Given the description of an element on the screen output the (x, y) to click on. 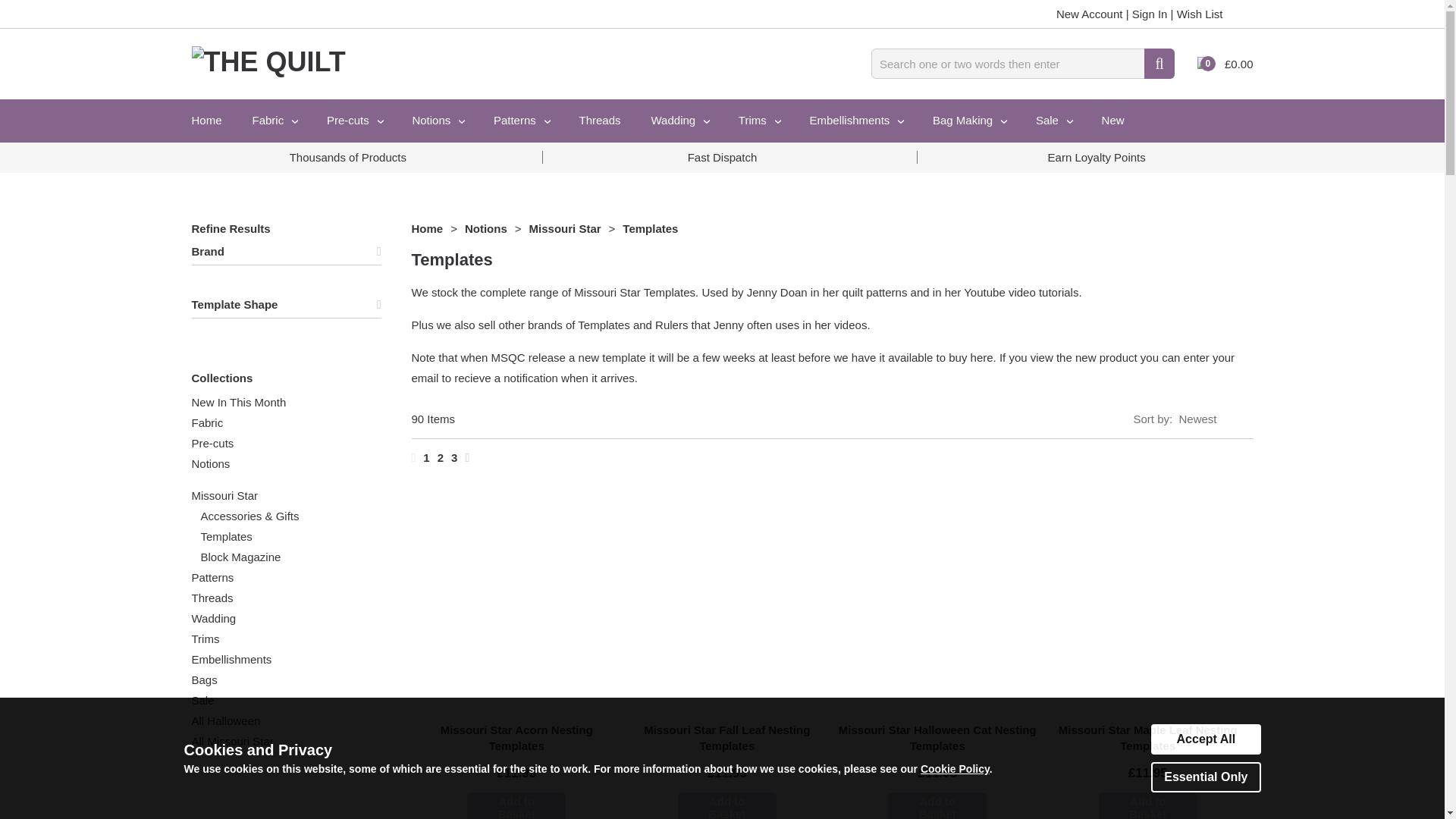
Home (205, 119)
Go (1159, 63)
New Account (1089, 13)
0 (1202, 64)
Maximise (277, 304)
Wish List (1199, 13)
Fabric (274, 120)
Sign In (1149, 13)
Maximise (277, 250)
